Given the description of an element on the screen output the (x, y) to click on. 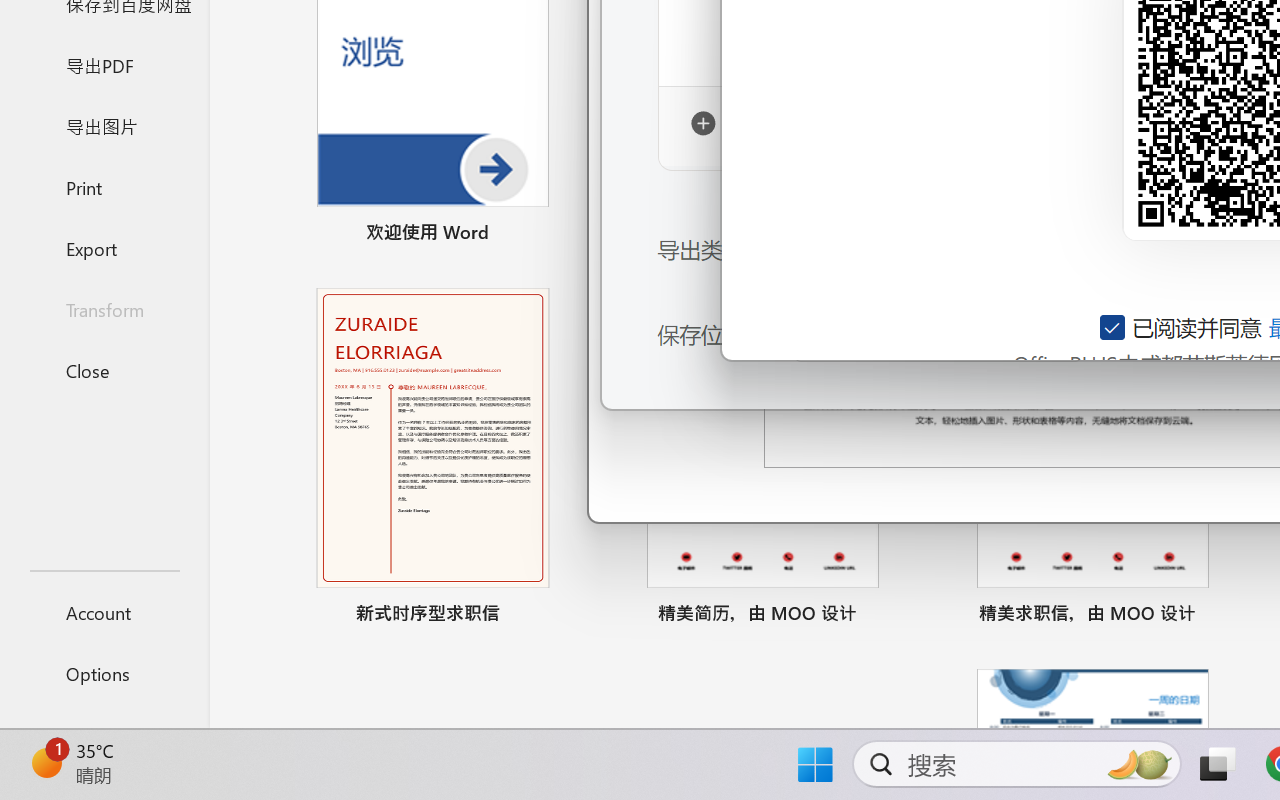
Previous Template (630, 85)
Transform (104, 309)
AutomationID: checkbox-14 (1114, 327)
